Given the description of an element on the screen output the (x, y) to click on. 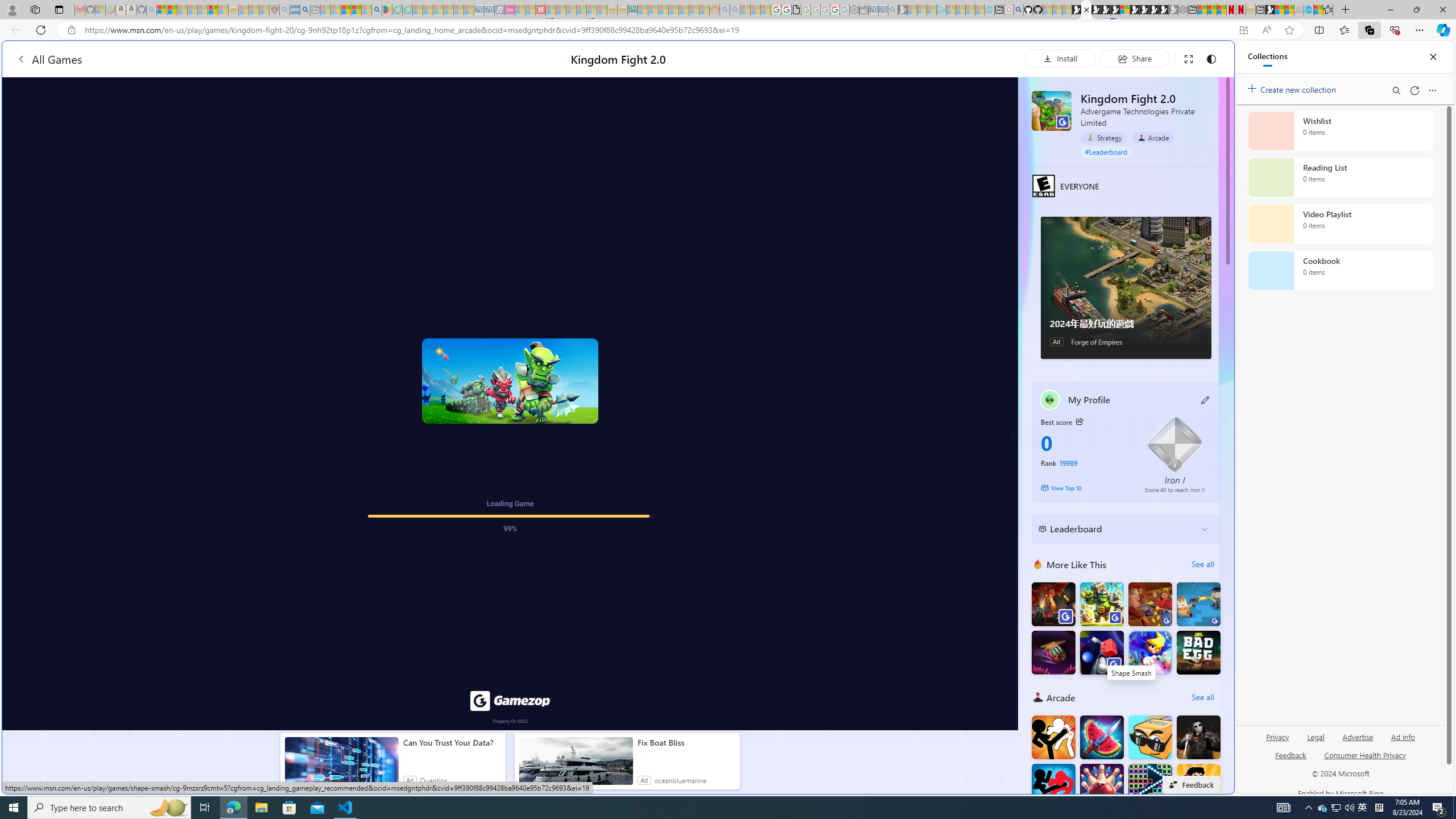
Leaderboard (1116, 529)
Can You Trust Your Data? (451, 742)
View Top 10 (1085, 487)
Change to dark mode (1211, 58)
Dragon Annihilation (1053, 603)
Quantios (432, 779)
